Given the description of an element on the screen output the (x, y) to click on. 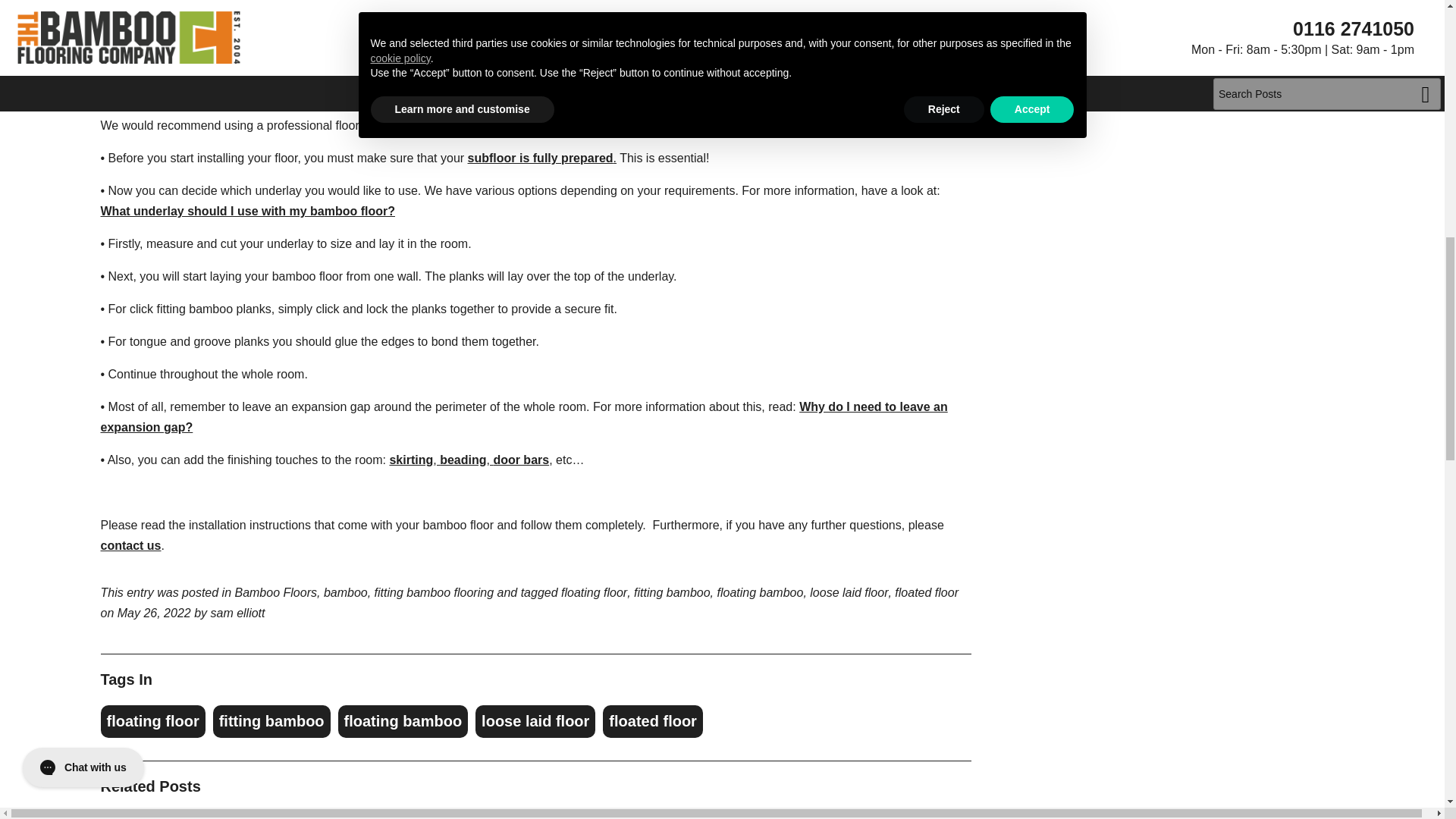
Bamboo Floors (275, 592)
fitting bamboo (271, 721)
Bamboo Floors (275, 592)
bamboo (345, 592)
floating floor (593, 592)
floating bamboo (402, 721)
floated floor (926, 592)
floating floor (152, 721)
loose laid floor (848, 592)
Why do I need to leave an expansion gap? (523, 417)
